Given the description of an element on the screen output the (x, y) to click on. 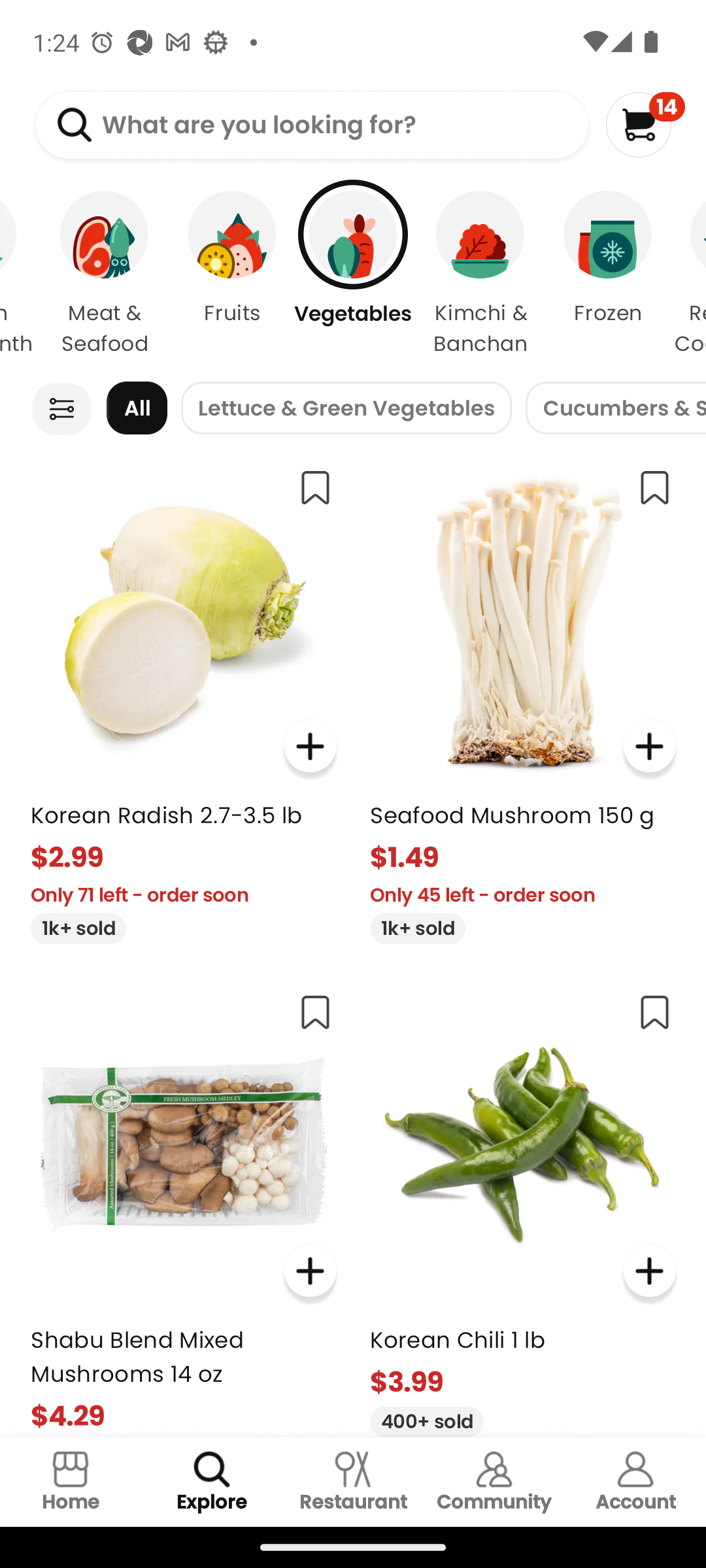
What are you looking for? (311, 124)
14 (644, 124)
Meat & Seafood (105, 274)
Fruits (232, 274)
Vegetables (352, 274)
Kimchi & Banchan (480, 274)
Frozen (607, 274)
All (136, 407)
Lettuce & Green Vegetables (345, 407)
Cucumbers & Squash (615, 407)
Shabu Blend Mixed Mushrooms 14 oz $4.29 (182, 1207)
Korean Chili 1 lb $3.99 400+ sold (522, 1207)
Home (70, 1482)
Explore (211, 1482)
Restaurant (352, 1482)
Community (493, 1482)
Account (635, 1482)
